Given the description of an element on the screen output the (x, y) to click on. 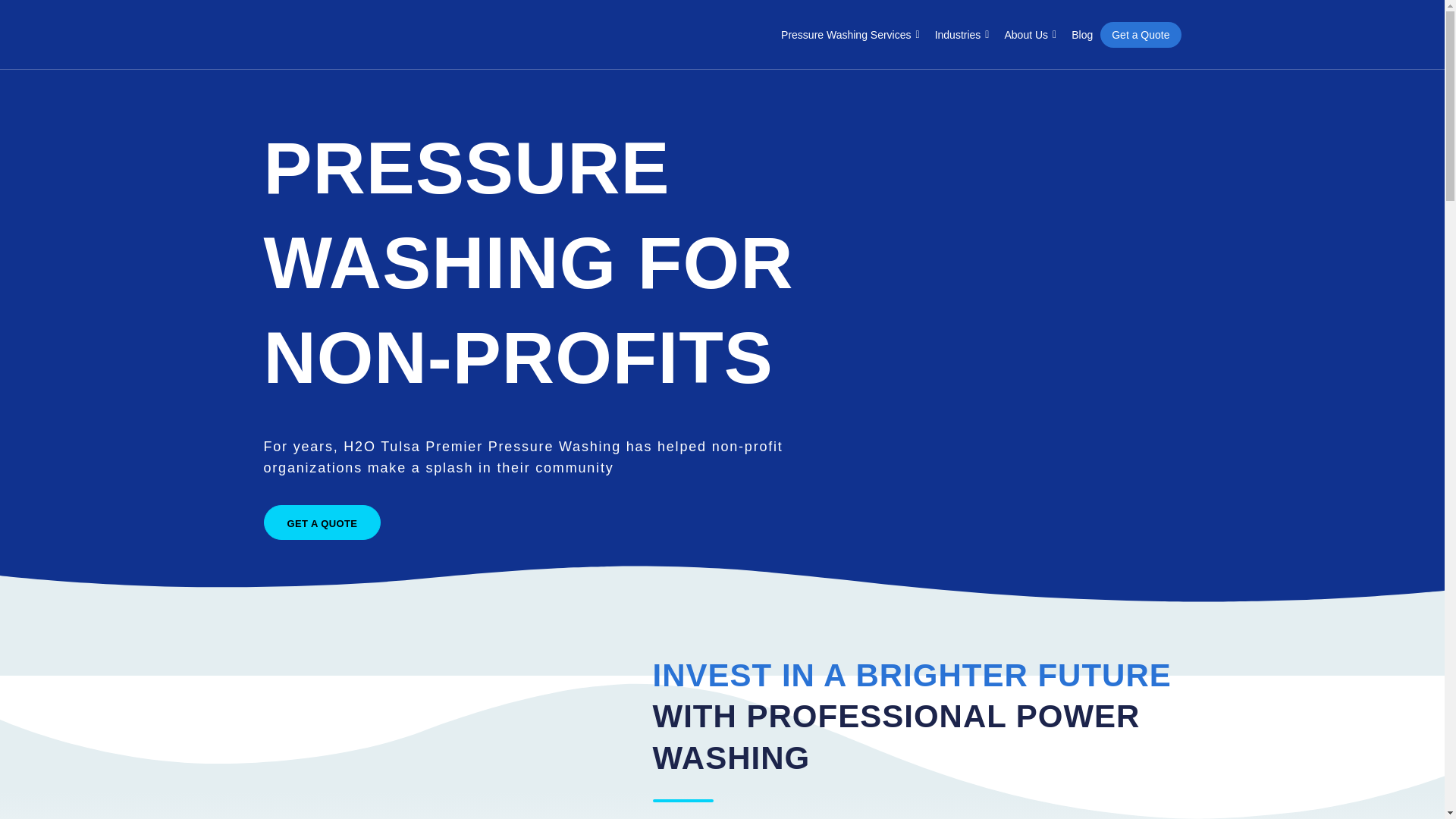
GET A QUOTE (322, 522)
Get a Quote (1140, 34)
About Us (1029, 34)
Pressure Washing Services (850, 34)
Industries (962, 34)
